Given the description of an element on the screen output the (x, y) to click on. 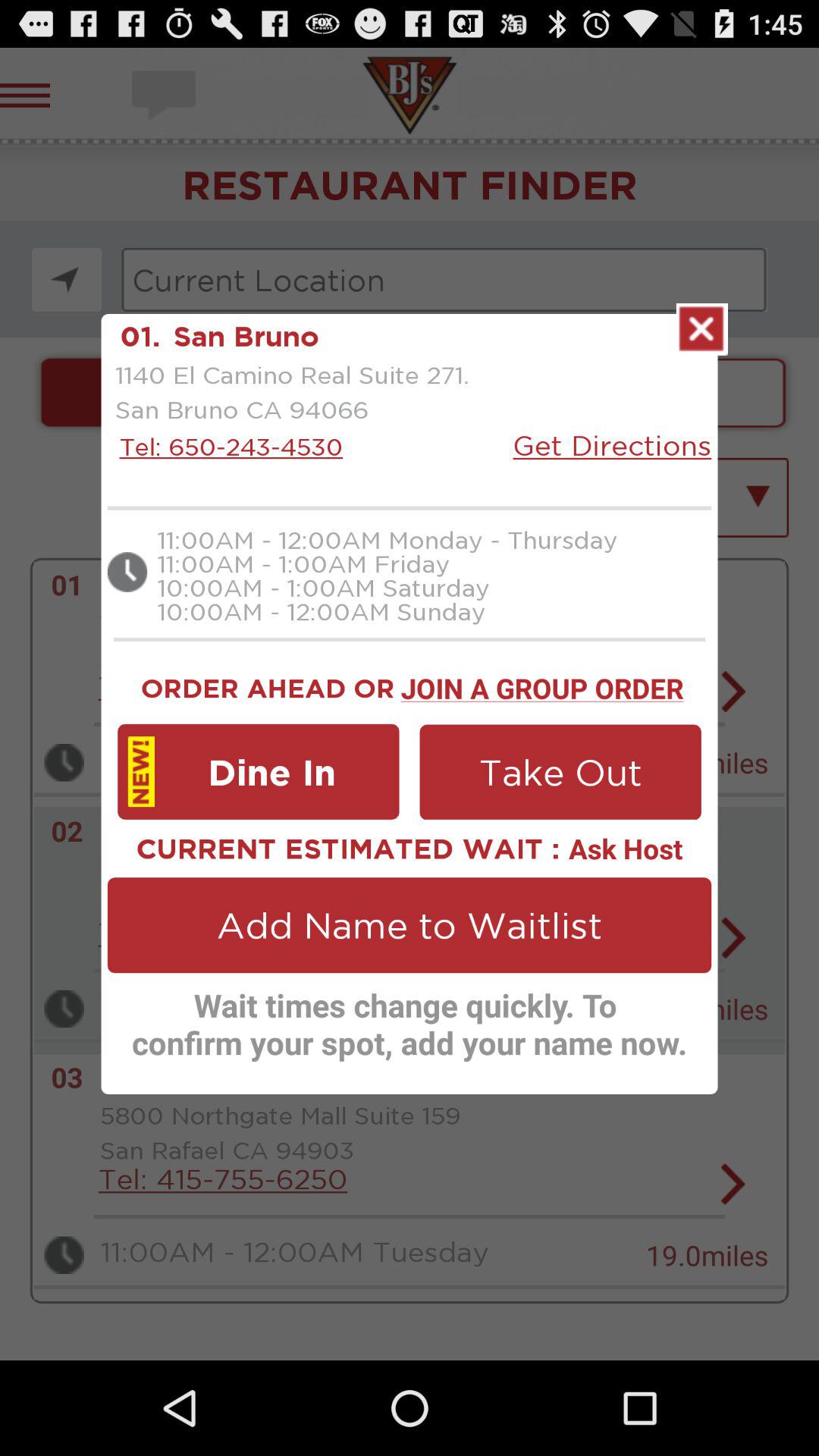
open item to the right of the order ahead or app (541, 685)
